Given the description of an element on the screen output the (x, y) to click on. 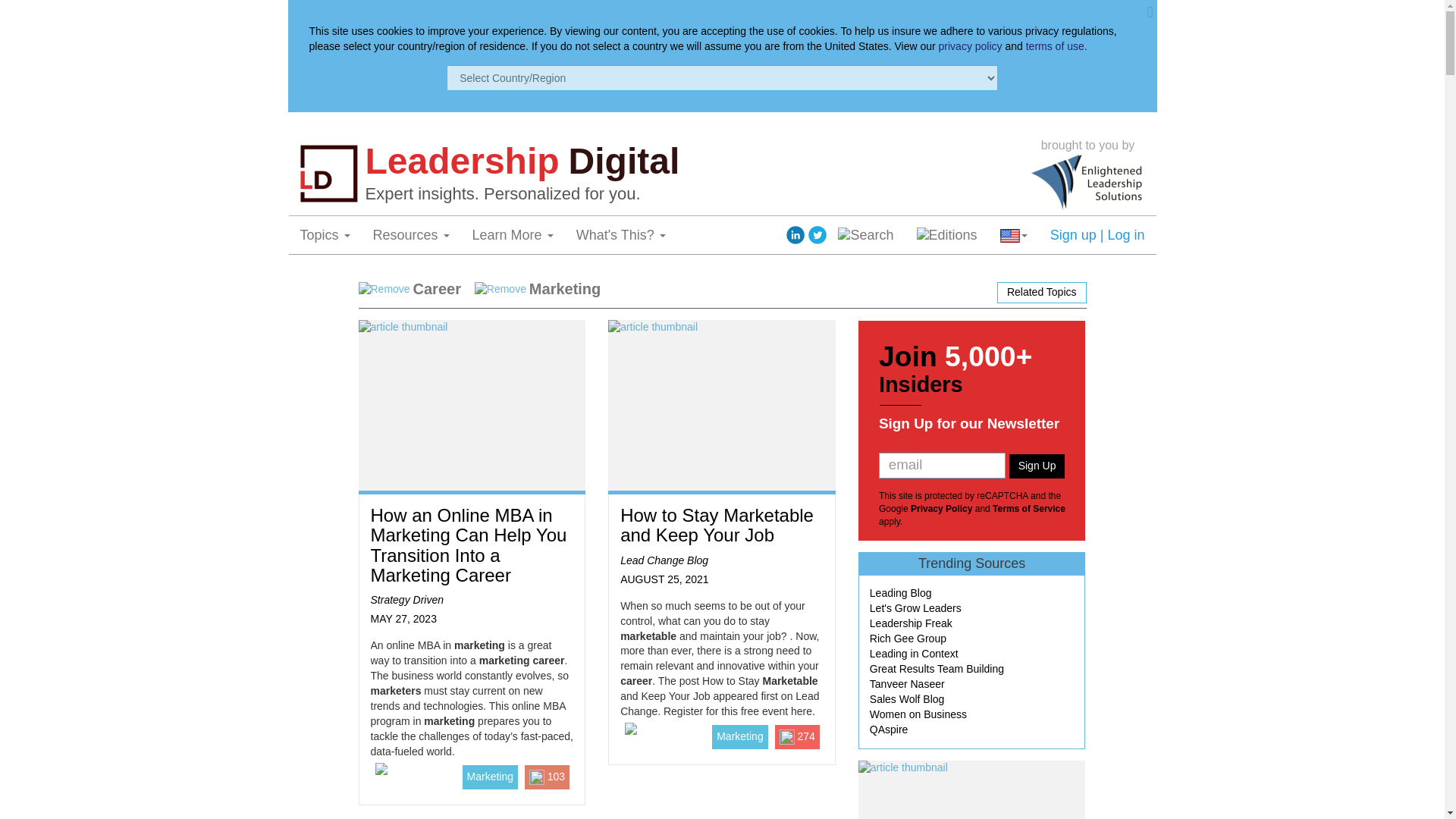
Enlightened Leadership Solutions (1087, 181)
Search (865, 234)
terms of use. (1056, 46)
Leadership Digital (694, 161)
Select your country (1013, 234)
Select edition (946, 234)
privacy policy (971, 46)
